Given the description of an element on the screen output the (x, y) to click on. 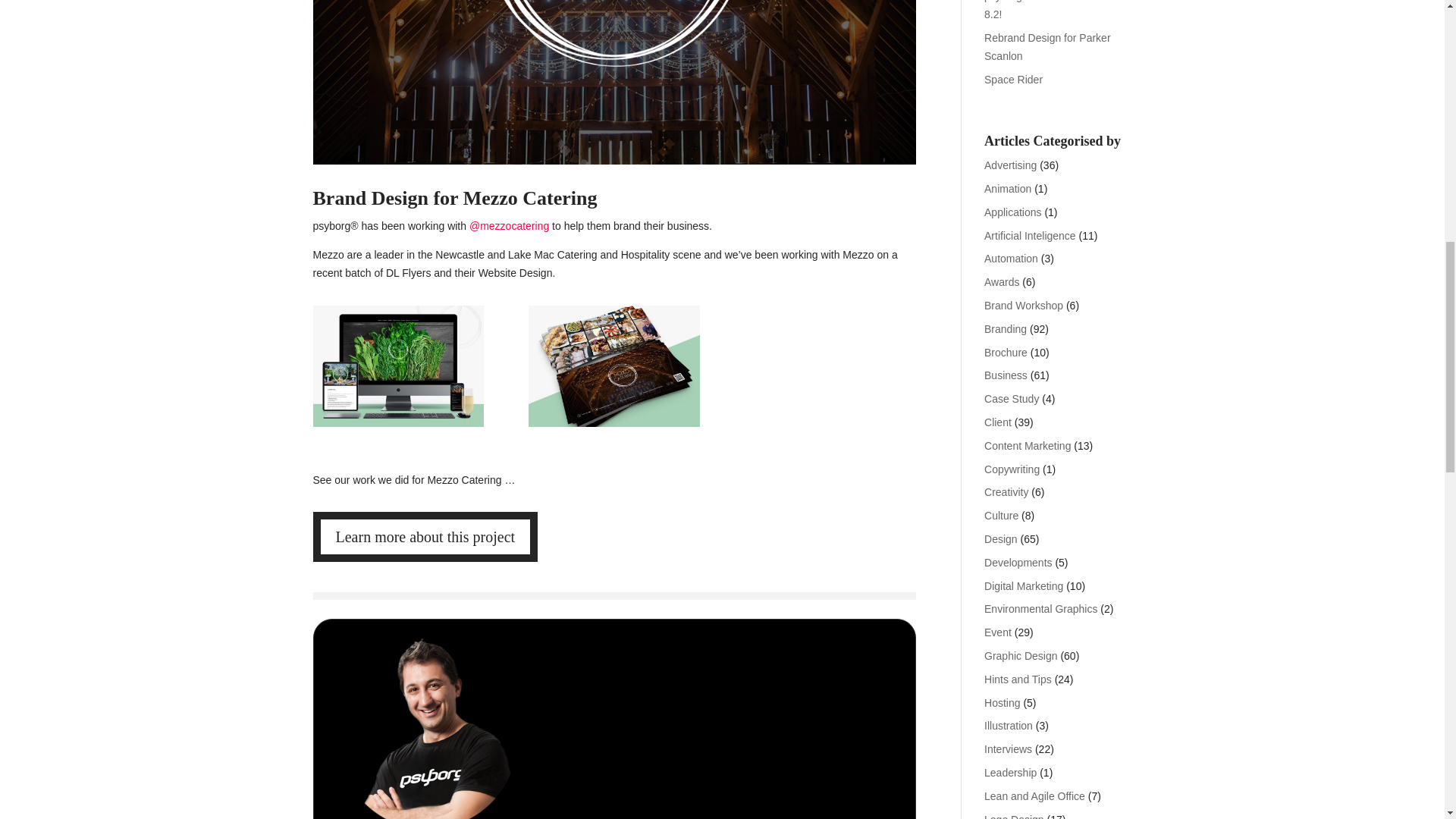
Applications (1013, 212)
Learn more about this project (425, 536)
Animation (1007, 188)
Space Rider (1013, 79)
Advertising (1010, 164)
Brand Design for Mezzo Catering (614, 81)
Rebrand Design for Parker Scanlon (1047, 46)
Mezzo Catering (398, 426)
Mezzo Catering (613, 426)
